Given the description of an element on the screen output the (x, y) to click on. 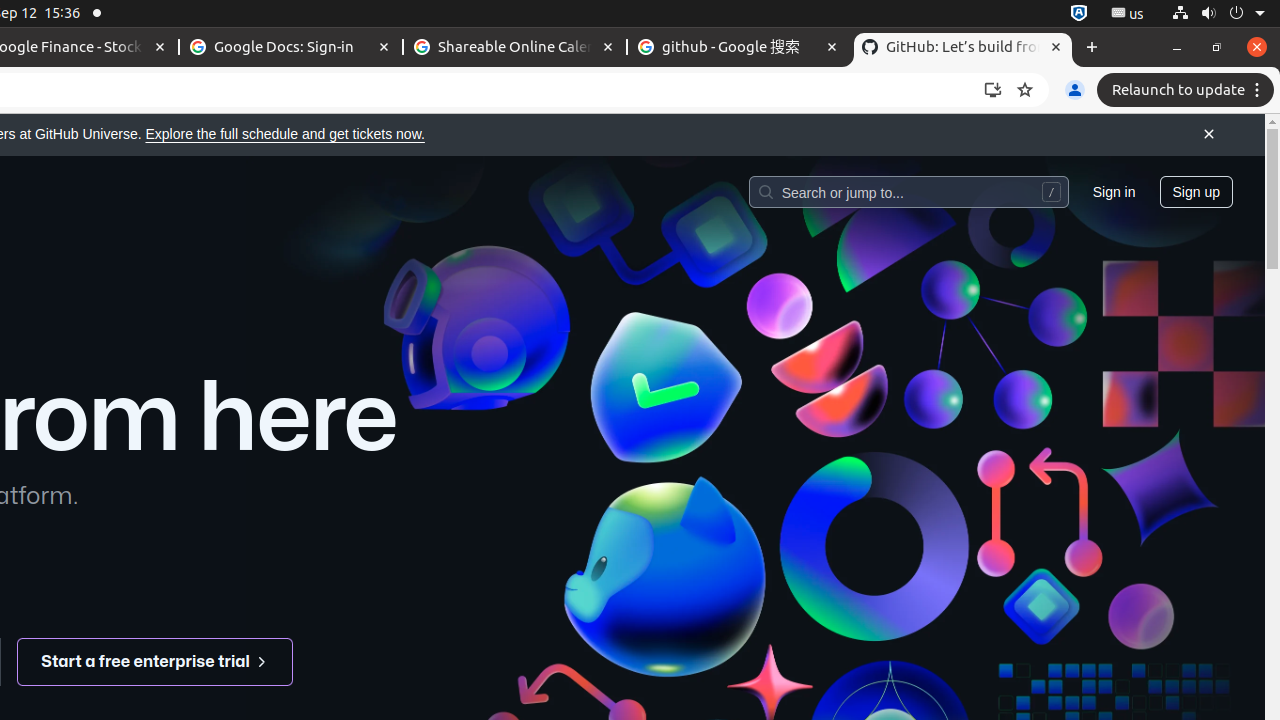
Sign up Element type: link (1196, 191)
Search or jump to… Element type: push-button (908, 191)
Shareable Online Calendar and Scheduling - Google Calendar - Memory usage - 88.4 MB Element type: page-tab (515, 47)
Start a free enterprise trial  Element type: link (155, 661)
System Element type: menu (1218, 13)
